Given the description of an element on the screen output the (x, y) to click on. 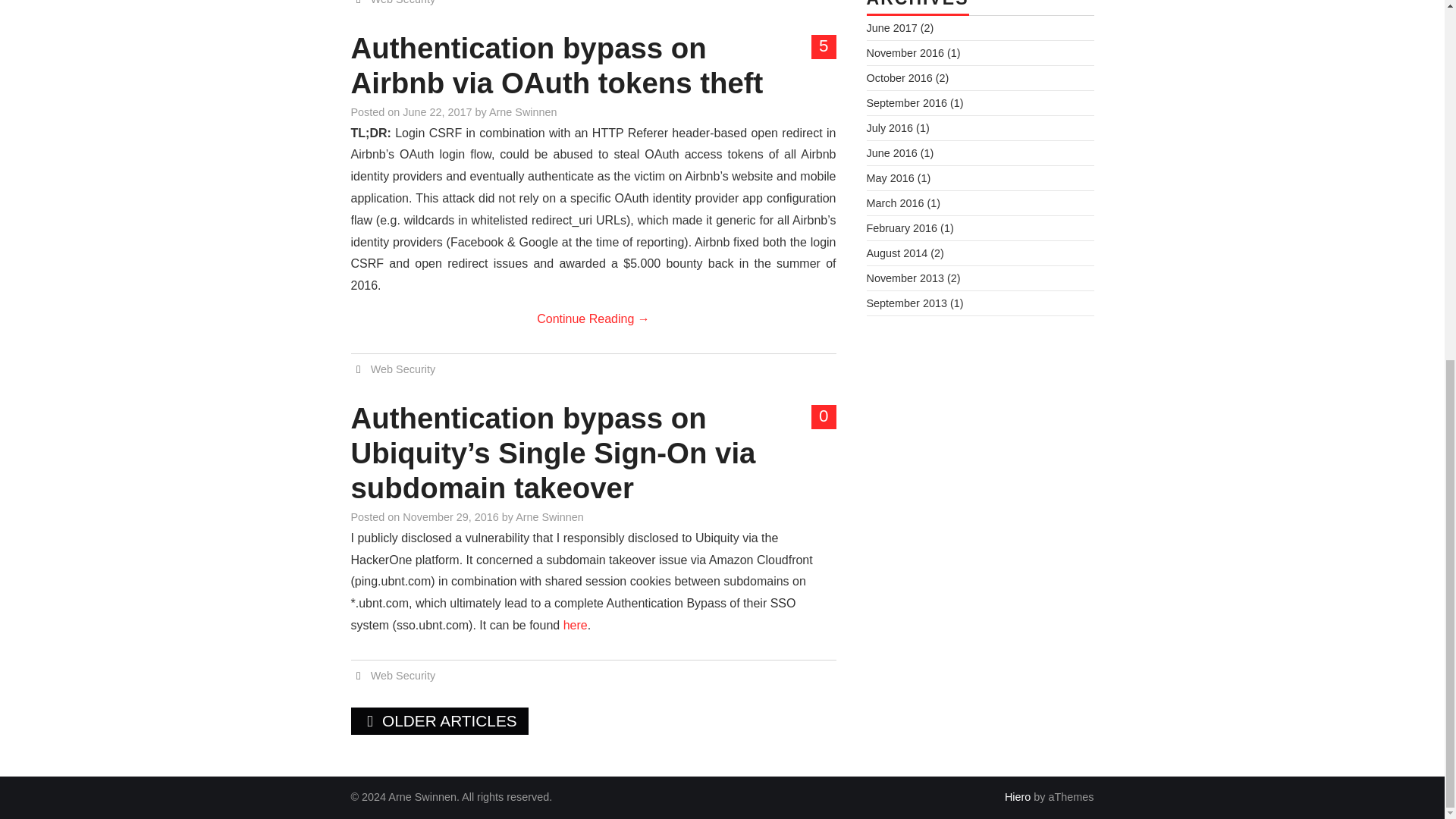
June 22, 2017 (437, 111)
1:18 am (437, 111)
Arne Swinnen (523, 111)
here (575, 625)
View all posts by Arne Swinnen (523, 111)
Web Security (403, 369)
Web Security (403, 675)
November 2016 (904, 52)
Arne Swinnen (549, 517)
0 (822, 416)
